Given the description of an element on the screen output the (x, y) to click on. 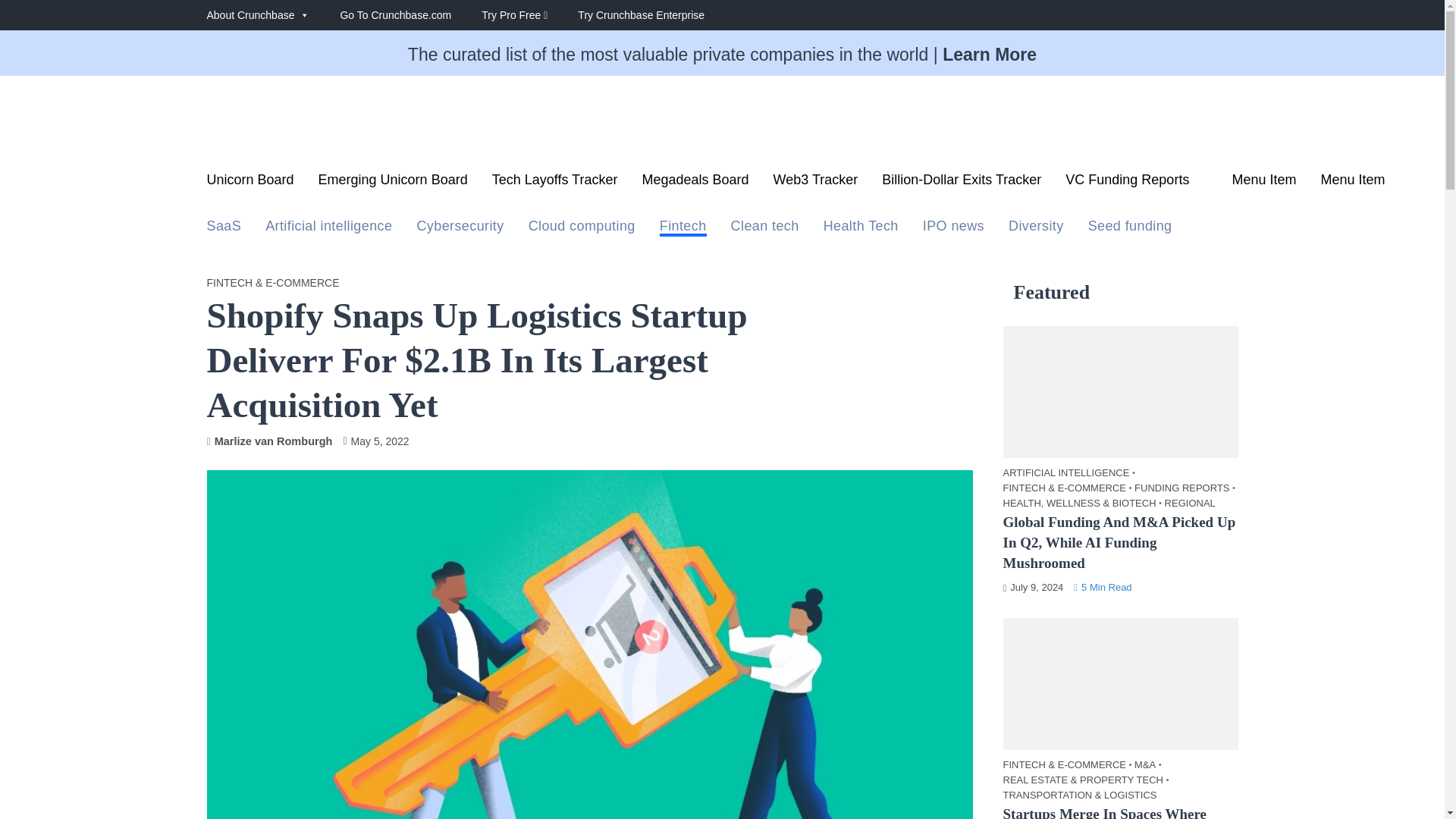
Web3 Tracker (816, 183)
Tech Layoffs Tracker (554, 183)
Billion-Dollar Exits Tracker (961, 183)
About Crunchbase (272, 15)
VC Funding Reports (1136, 183)
Megadeals Board (695, 183)
Go To Crunchbase.com (410, 15)
Unicorn Board (250, 183)
Try Crunchbase Enterprise (656, 15)
Emerging Unicorn Board (392, 183)
Try Pro Free (529, 15)
